Given the description of an element on the screen output the (x, y) to click on. 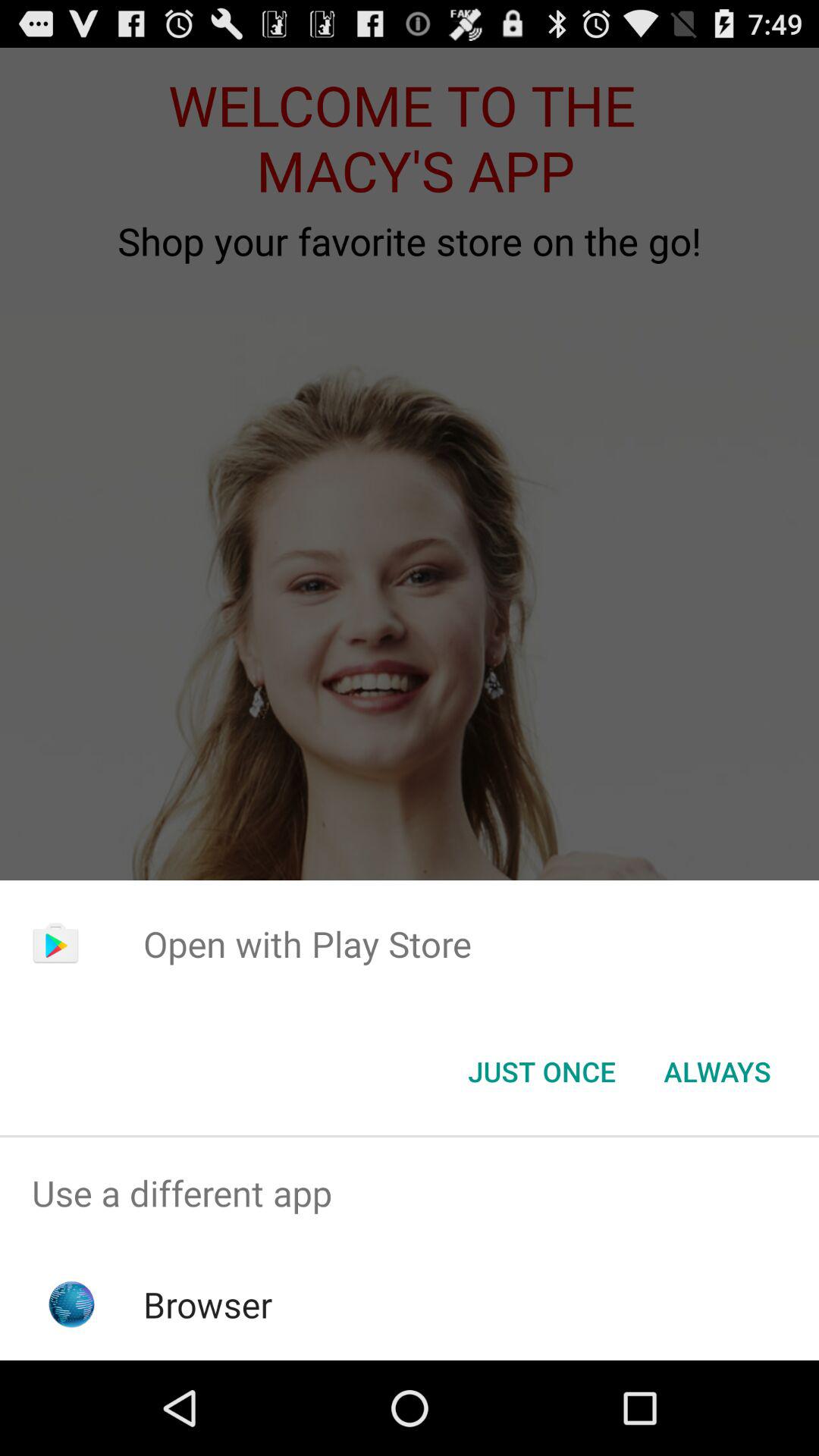
select the item above the browser item (409, 1192)
